Given the description of an element on the screen output the (x, y) to click on. 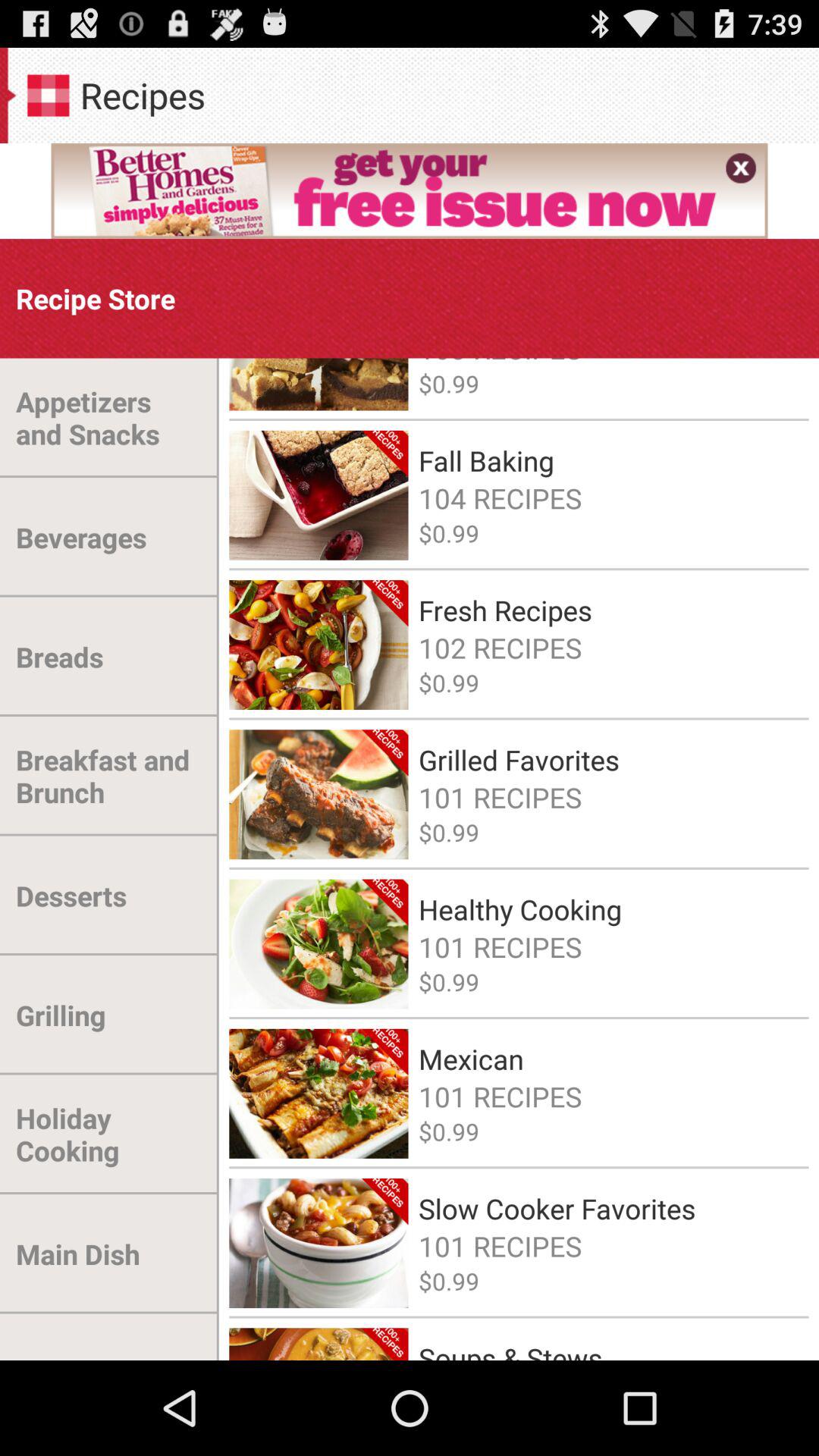
swipe to the pantry raid (88, 1336)
